Given the description of an element on the screen output the (x, y) to click on. 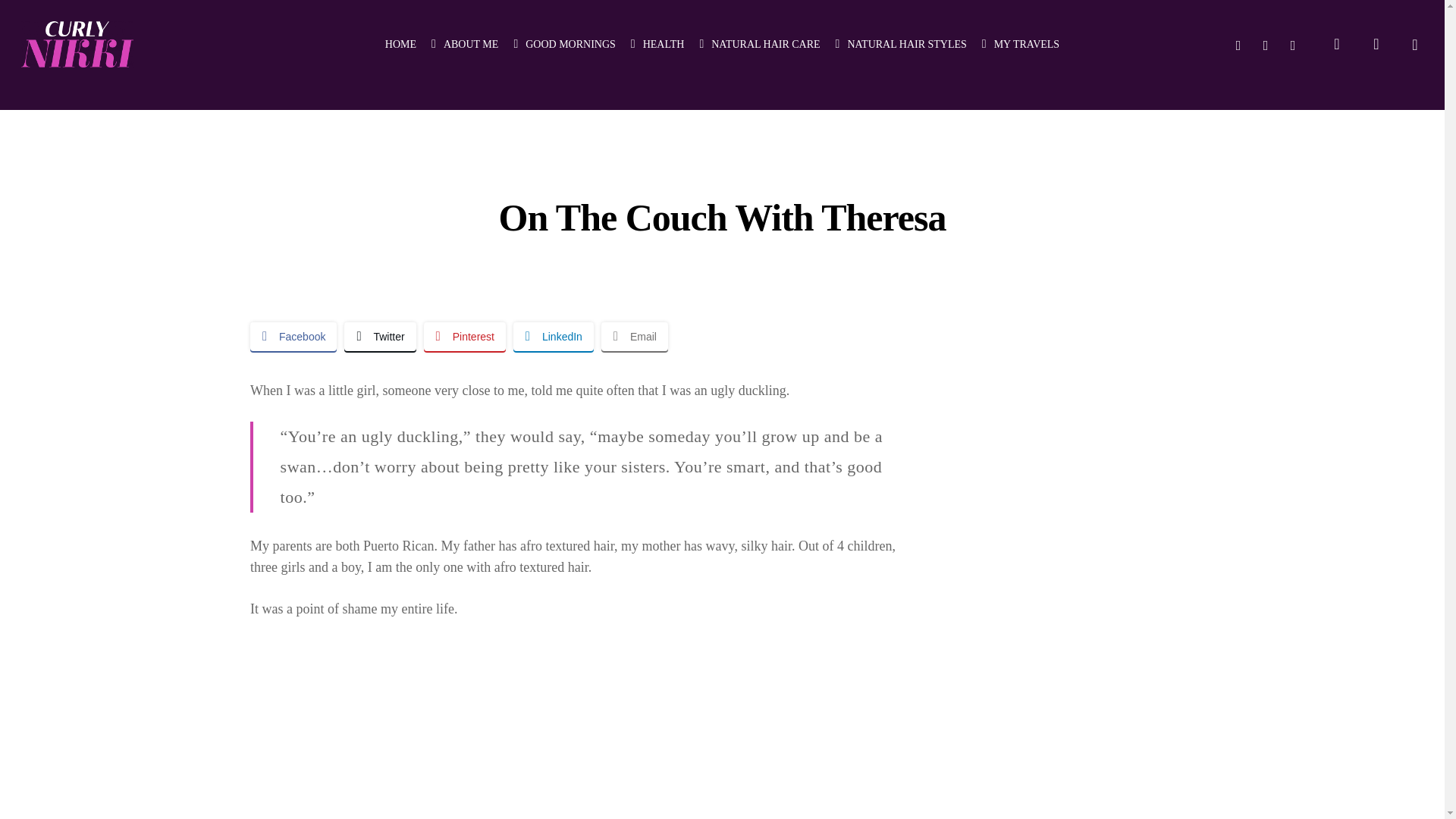
NATURAL HAIR CARE (758, 44)
GOOD MORNINGS (563, 44)
HEALTH (657, 44)
HOME (400, 44)
NATURAL HAIR STYLES (900, 44)
ABOUT ME (463, 44)
